Given the description of an element on the screen output the (x, y) to click on. 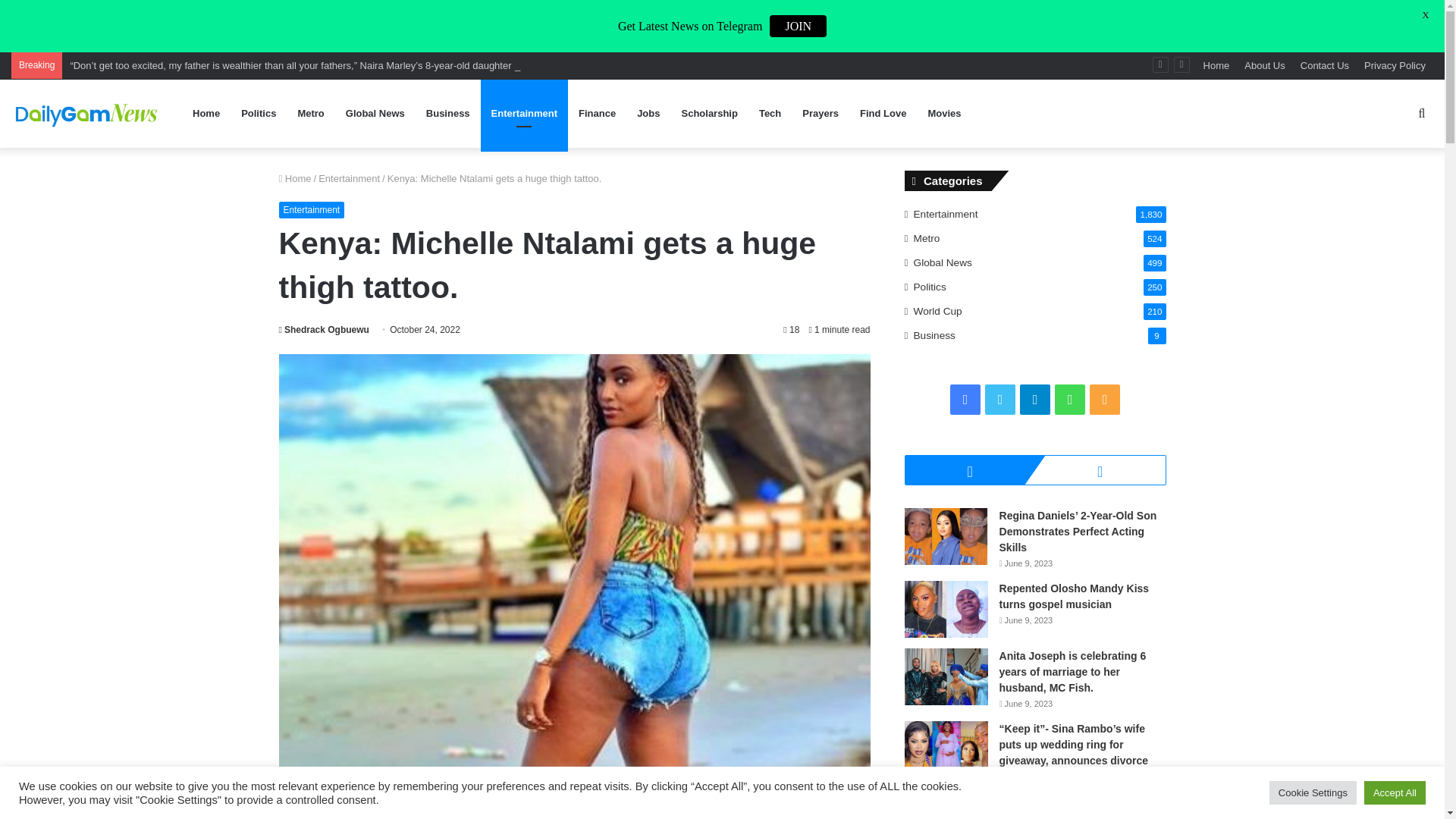
Search for (1421, 113)
Home (1216, 65)
Metro (310, 113)
Entertainment (349, 178)
Global News (374, 113)
Movies (944, 113)
Prayers (820, 113)
Entertainment (312, 209)
Shedrack Ogbuewu (324, 329)
Contact Us (1324, 65)
Entertainment (523, 113)
Home (295, 178)
About Us (1264, 65)
Find Love (882, 113)
Business (447, 113)
